Given the description of an element on the screen output the (x, y) to click on. 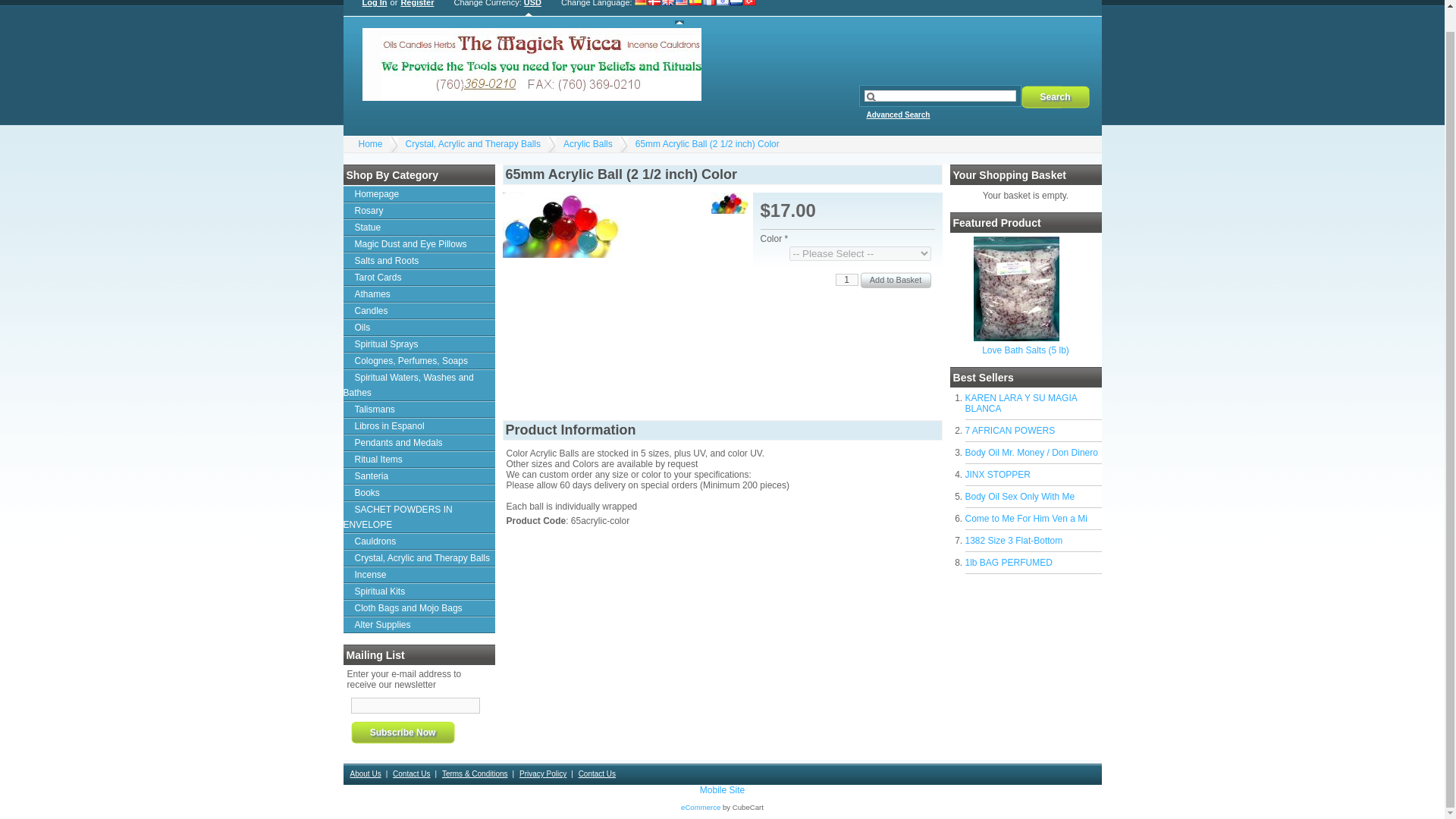
Subscribe Now (402, 732)
Search (1054, 96)
Tarot Cards (418, 277)
Athames (418, 293)
Statue (418, 227)
Deutsch (640, 12)
Dutch (735, 12)
Homepage (418, 193)
Magic Dust and Eye Pillows (418, 243)
Log In (375, 7)
Rosary (418, 210)
Acrylic Balls (587, 143)
Register (415, 7)
Dansk (654, 12)
Register (415, 7)
